Given the description of an element on the screen output the (x, y) to click on. 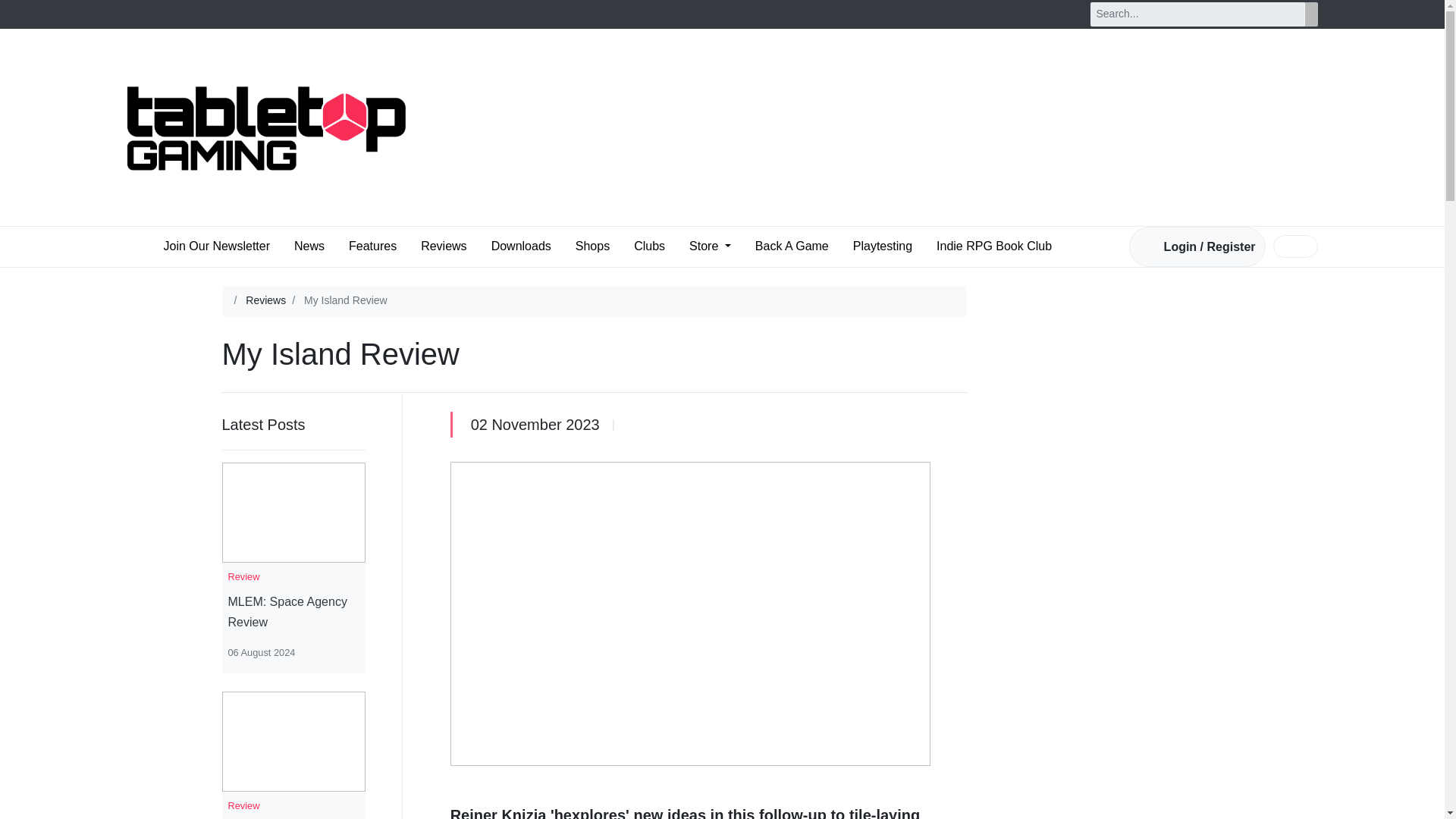
Playtesting (882, 246)
Reviews (265, 300)
Back A Game (791, 246)
Reviews (442, 246)
Join Our Newsletter (216, 246)
Downloads (520, 246)
Shops (592, 246)
MLEM: Space Agency Review (292, 611)
Clubs (649, 246)
Store (709, 246)
